Given the description of an element on the screen output the (x, y) to click on. 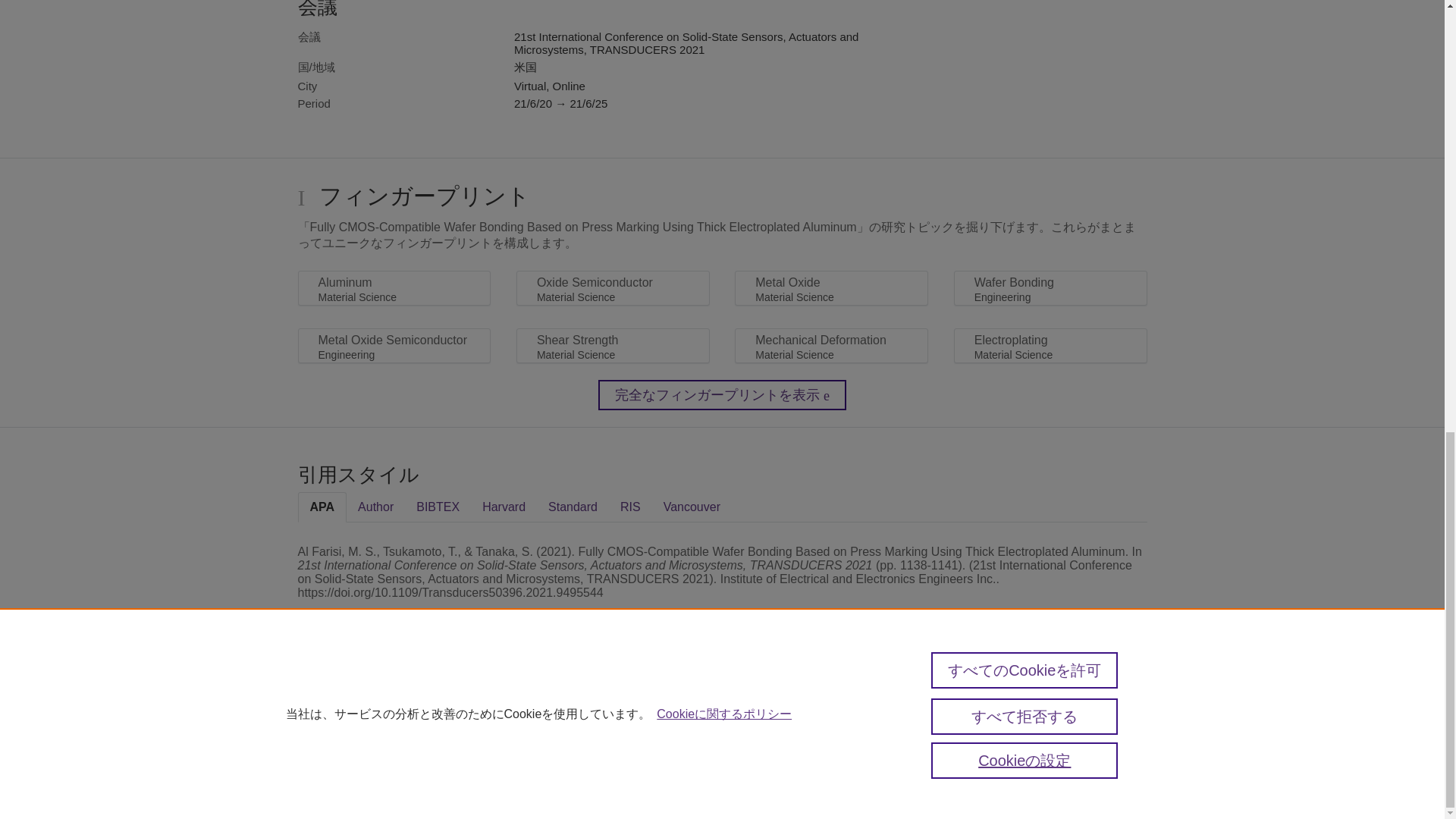
Scopus (362, 699)
Elsevier B.V. (545, 722)
Pure (330, 699)
